Given the description of an element on the screen output the (x, y) to click on. 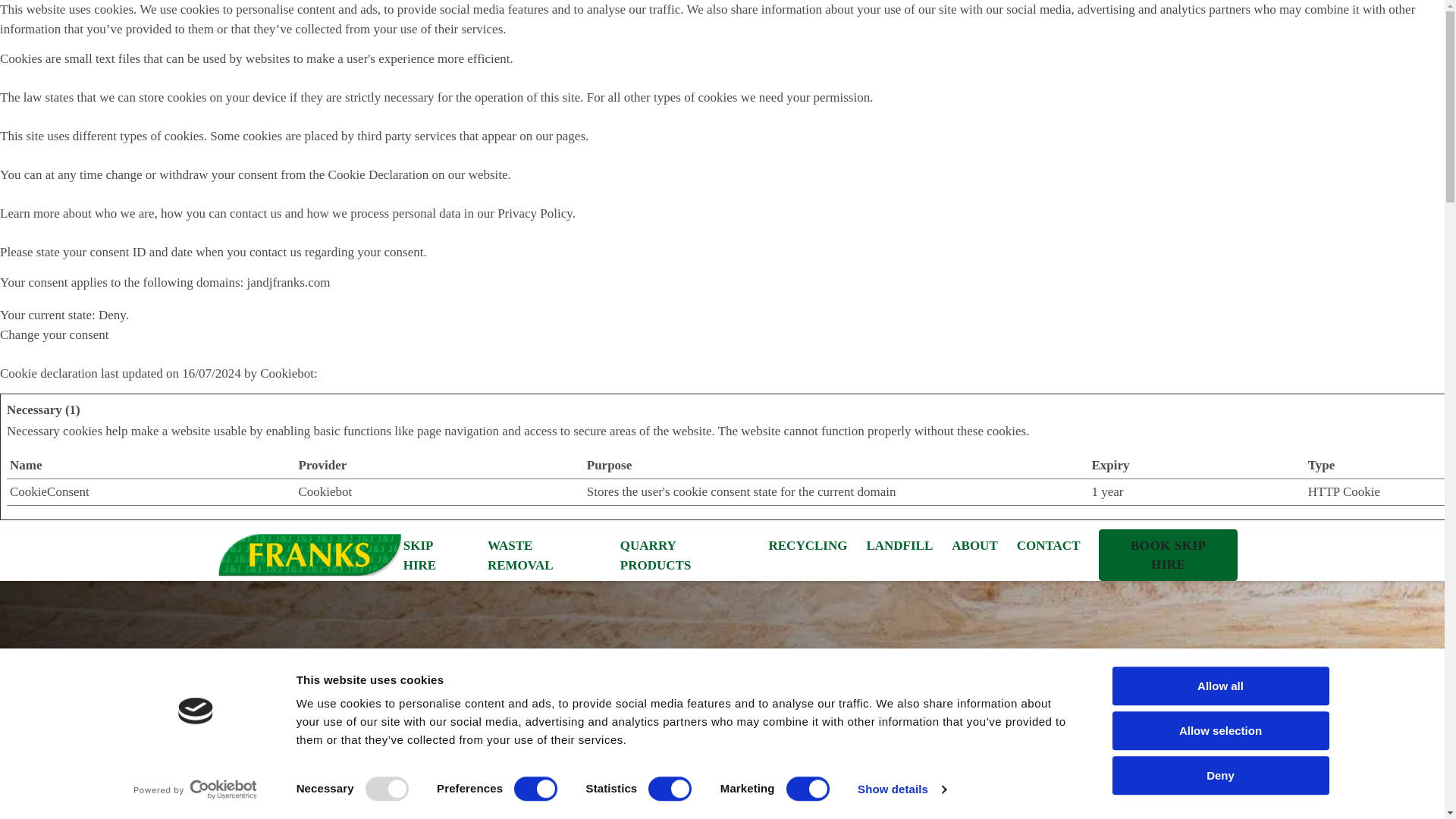
LANDFILL (899, 545)
Cookiebot (287, 372)
RECYCLING (807, 545)
Change your consent (54, 334)
Allow all (1219, 685)
Deny (1219, 774)
Show details (900, 789)
Allow selection (1219, 730)
Cookiebot's privacy policy (325, 490)
WASTE REMOVAL (544, 554)
Cookiebot (325, 490)
ABOUT (974, 545)
QUARRY PRODUCTS (684, 554)
Cookiebot (287, 372)
SKIP HIRE (435, 554)
